Given the description of an element on the screen output the (x, y) to click on. 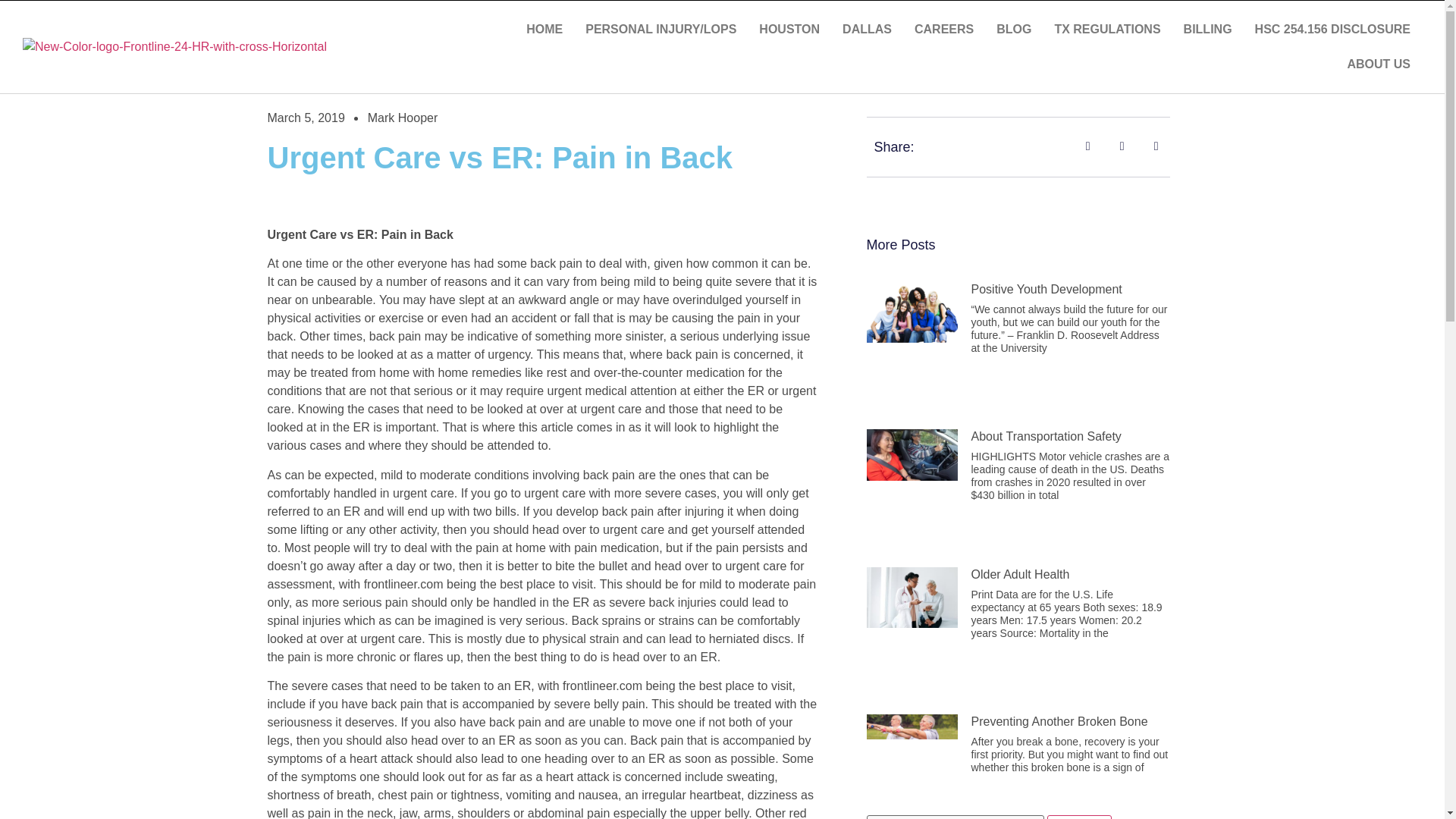
Search (1079, 816)
Preventing Another Broken Bone (1059, 721)
BLOG (1013, 29)
ABOUT US (1378, 63)
HSC 254.156 DISCLOSURE (1332, 29)
BILLING (1207, 29)
Mark Hooper (403, 117)
March 5, 2019 (304, 117)
TX REGULATIONS (1107, 29)
About Transportation Safety (1046, 436)
